Given the description of an element on the screen output the (x, y) to click on. 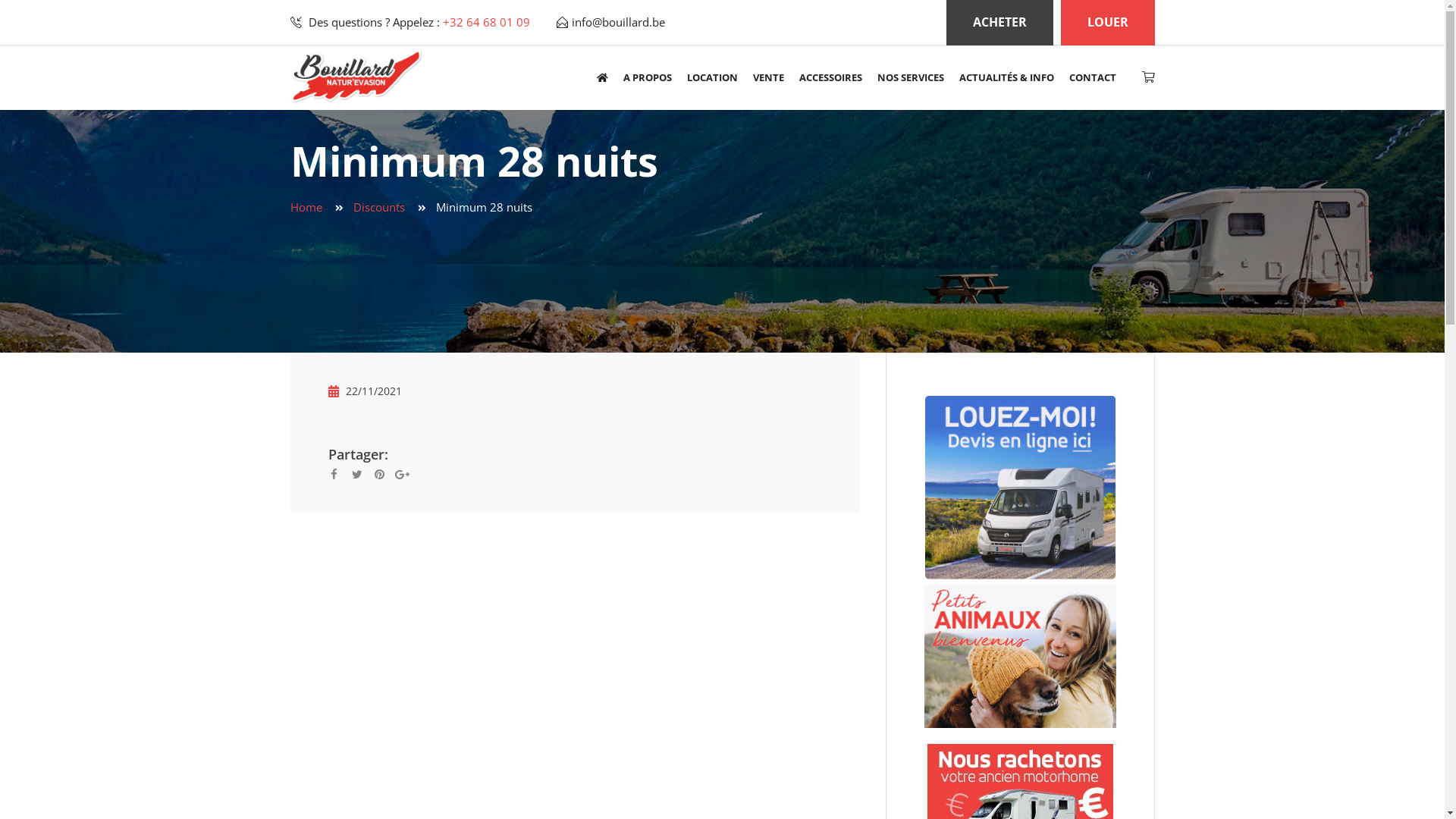
Pin on Pinterest Element type: hover (384, 472)
VENTE Element type: text (767, 78)
Home Element type: text (305, 206)
Minimum 28 nuits Element type: text (483, 206)
+32 64 68 01 09 Element type: text (486, 21)
Discounts Element type: text (378, 206)
A PROPOS Element type: text (647, 78)
ACCESSOIRES Element type: text (830, 78)
LOCATION Element type: text (712, 78)
CONTACT Element type: text (1092, 78)
LOUER Element type: text (1107, 22)
Share on Google+ Element type: hover (408, 472)
Share on Twitter Element type: hover (361, 472)
ACHETER Element type: text (999, 22)
info@bouillard.be Element type: text (618, 21)
Share on Facebook Element type: hover (338, 472)
NOS SERVICES Element type: text (909, 78)
